Given the description of an element on the screen output the (x, y) to click on. 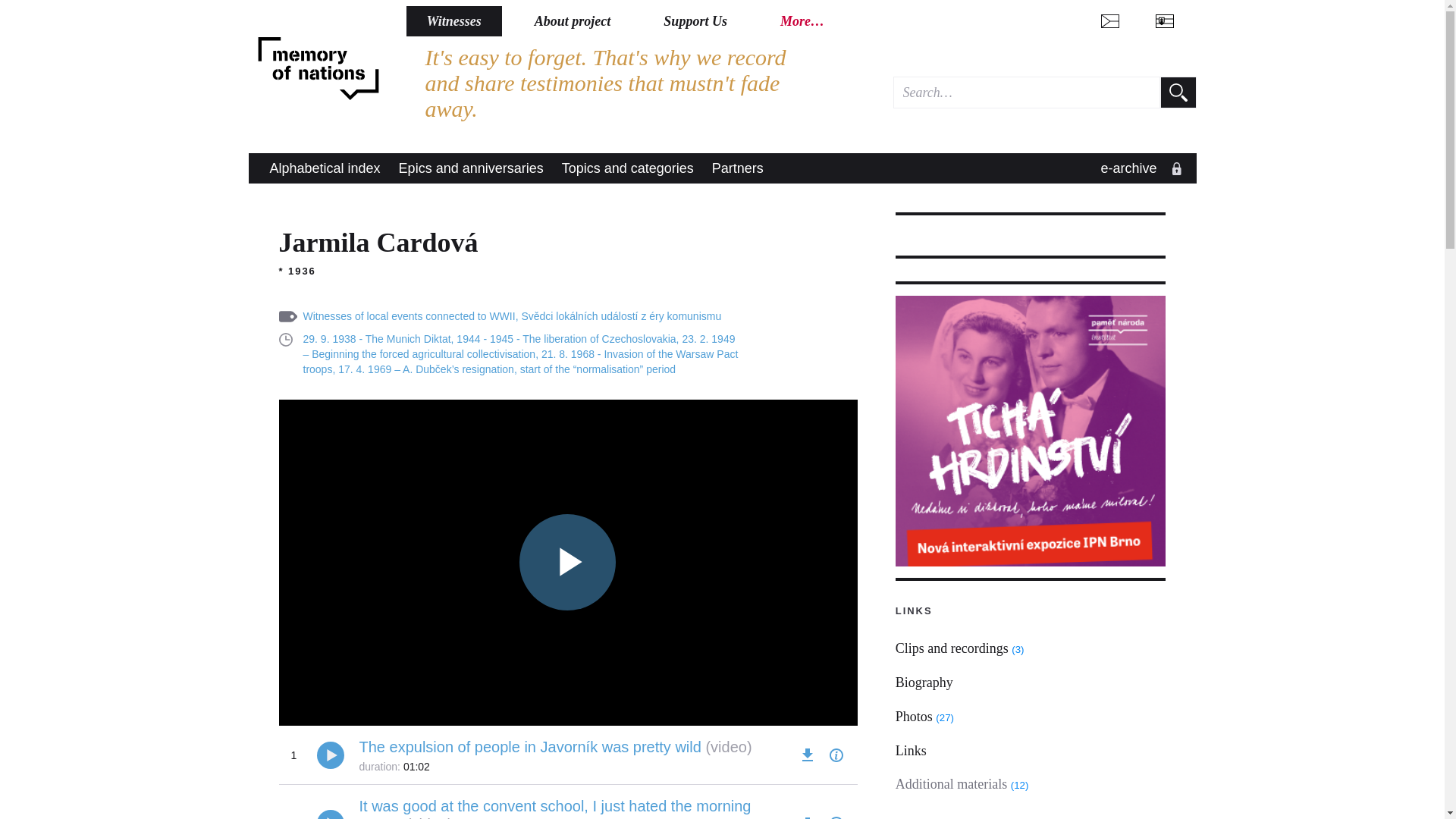
1944 - 1945 - The liberation of Czechoslovakia (566, 338)
Epics and anniversaries (471, 168)
Support Us (695, 20)
Witnesses (454, 20)
Download file (807, 816)
Home (318, 69)
e-archive (1138, 168)
Topics and categories (628, 168)
Alphabetical index (325, 168)
Witnesses of local events connected to WWII (408, 316)
About project (572, 20)
Download file (807, 754)
Partners (738, 168)
21. 8. 1968 - Invasion of the Warsaw Pact troops (520, 361)
Play Video (567, 562)
